Given the description of an element on the screen output the (x, y) to click on. 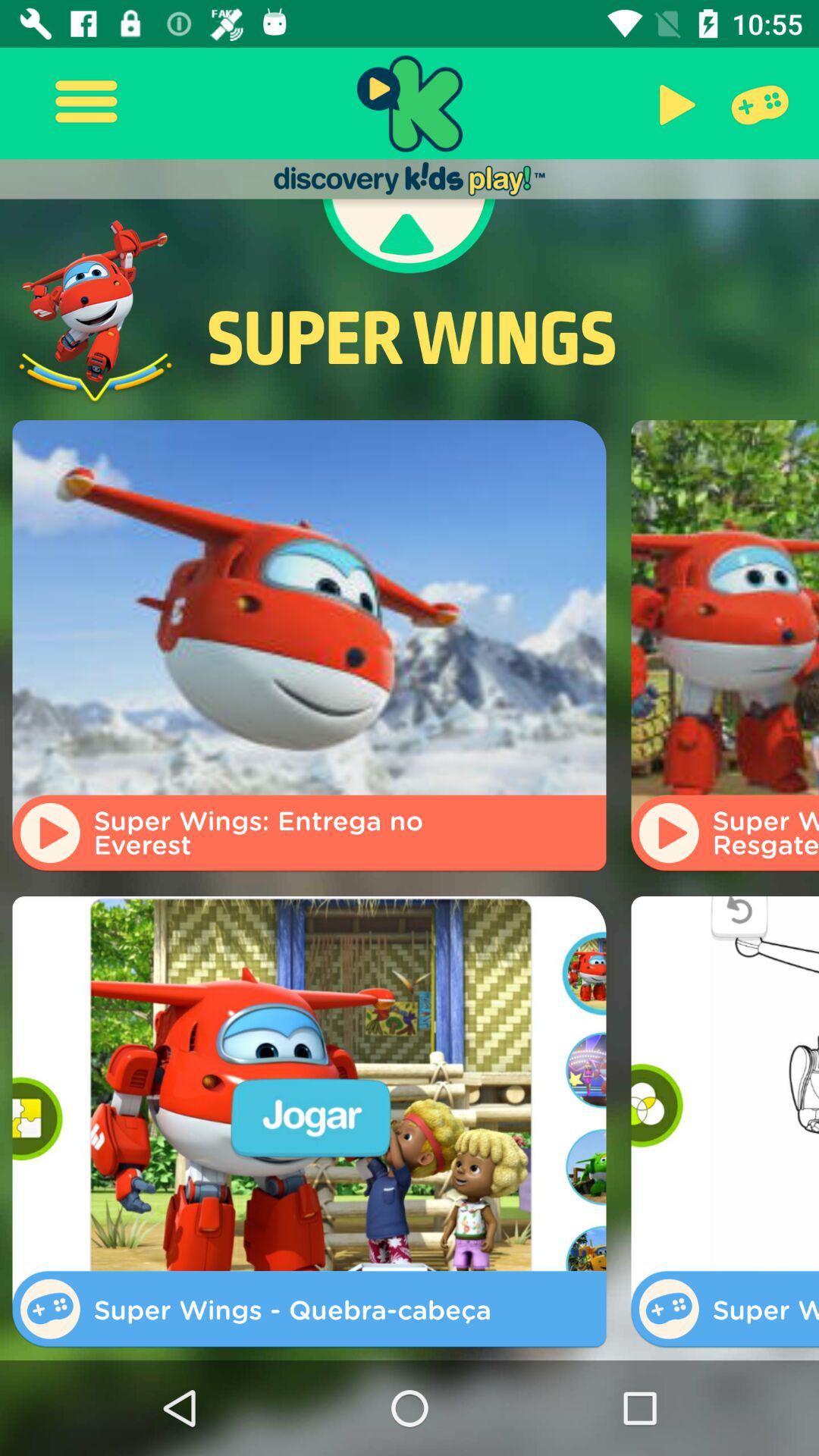
turn on the icon next to the super wings item (95, 311)
